Given the description of an element on the screen output the (x, y) to click on. 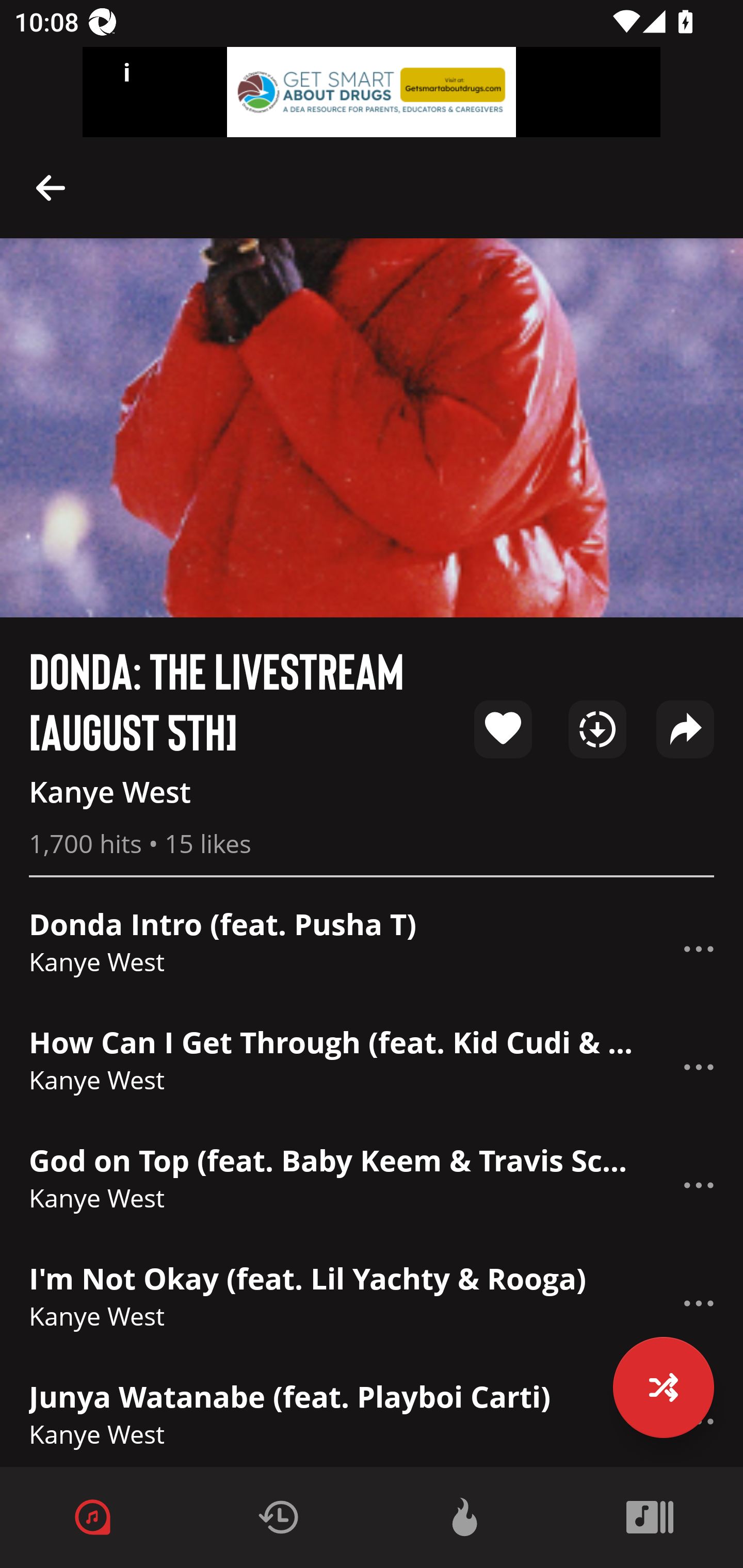
Description (50, 187)
Donda Intro (feat. Pusha T) Kanye West Description (371, 948)
Description (698, 949)
Description (698, 1066)
Description (698, 1185)
Description (698, 1303)
